Given the description of an element on the screen output the (x, y) to click on. 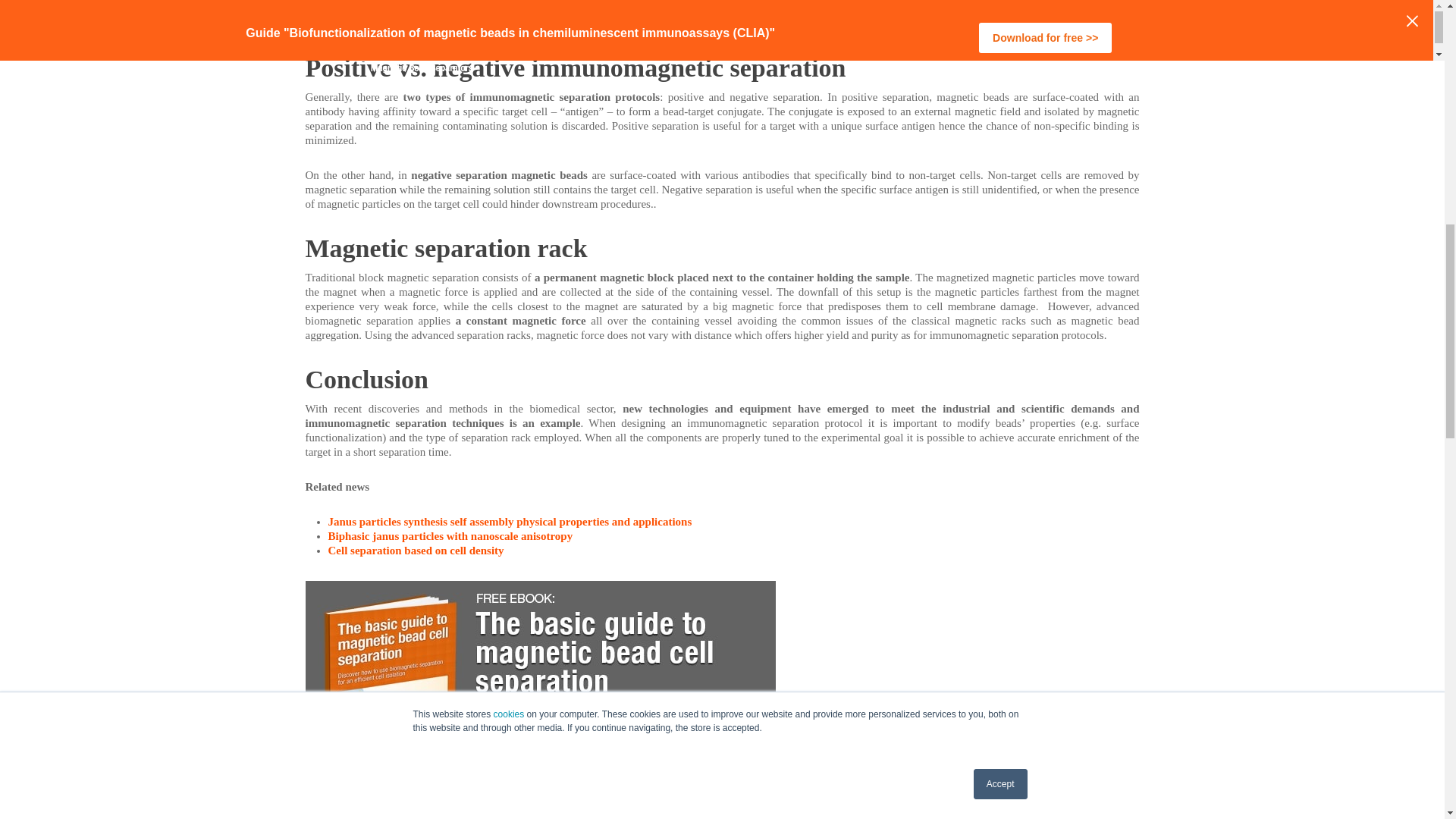
Cell separation based on cell density (415, 550)
Biphasic janus particles with nanoscale anisotropy (449, 535)
